Given the description of an element on the screen output the (x, y) to click on. 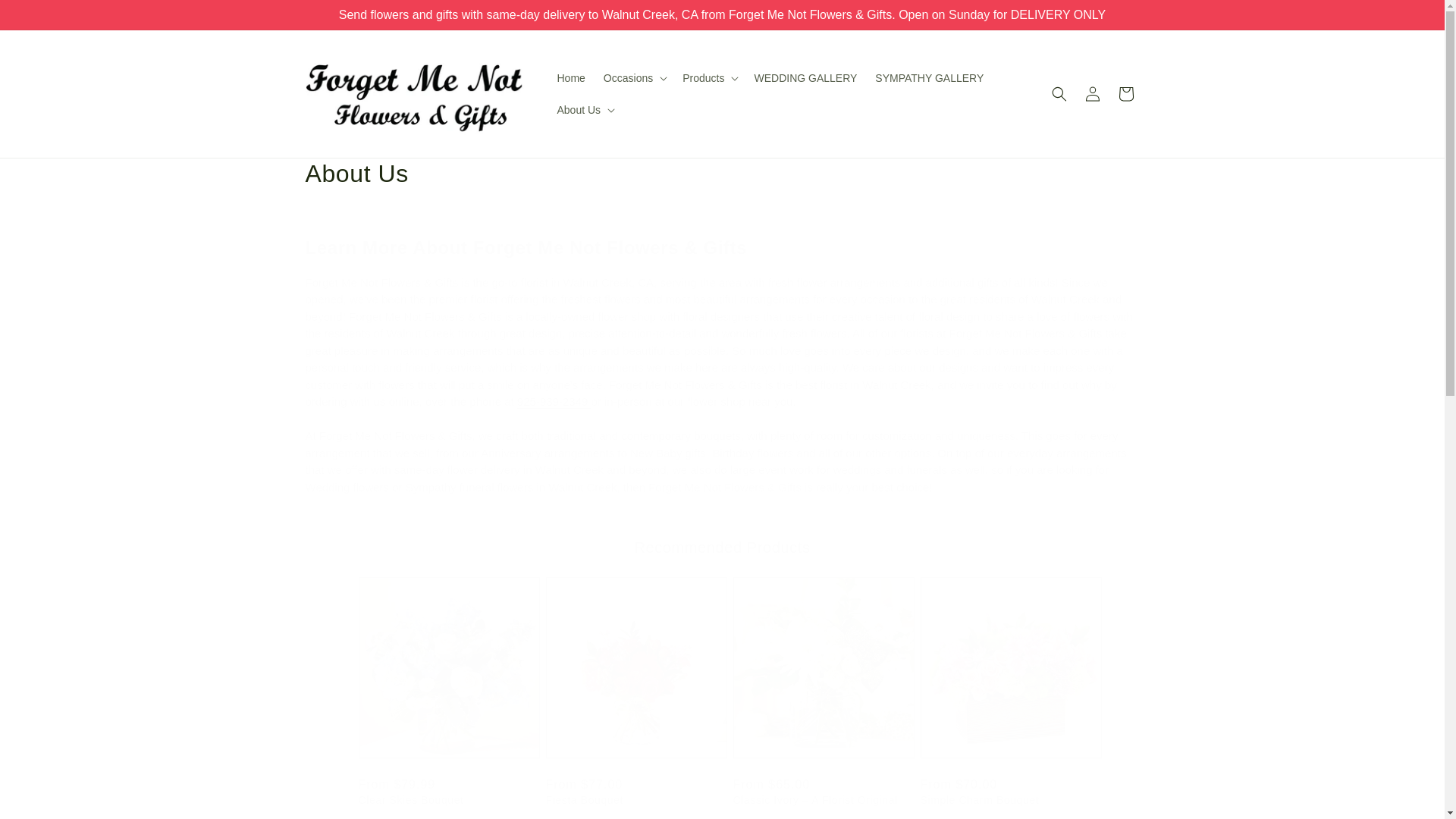
Home (570, 78)
About Us (721, 174)
Skip to content (45, 16)
